Given the description of an element on the screen output the (x, y) to click on. 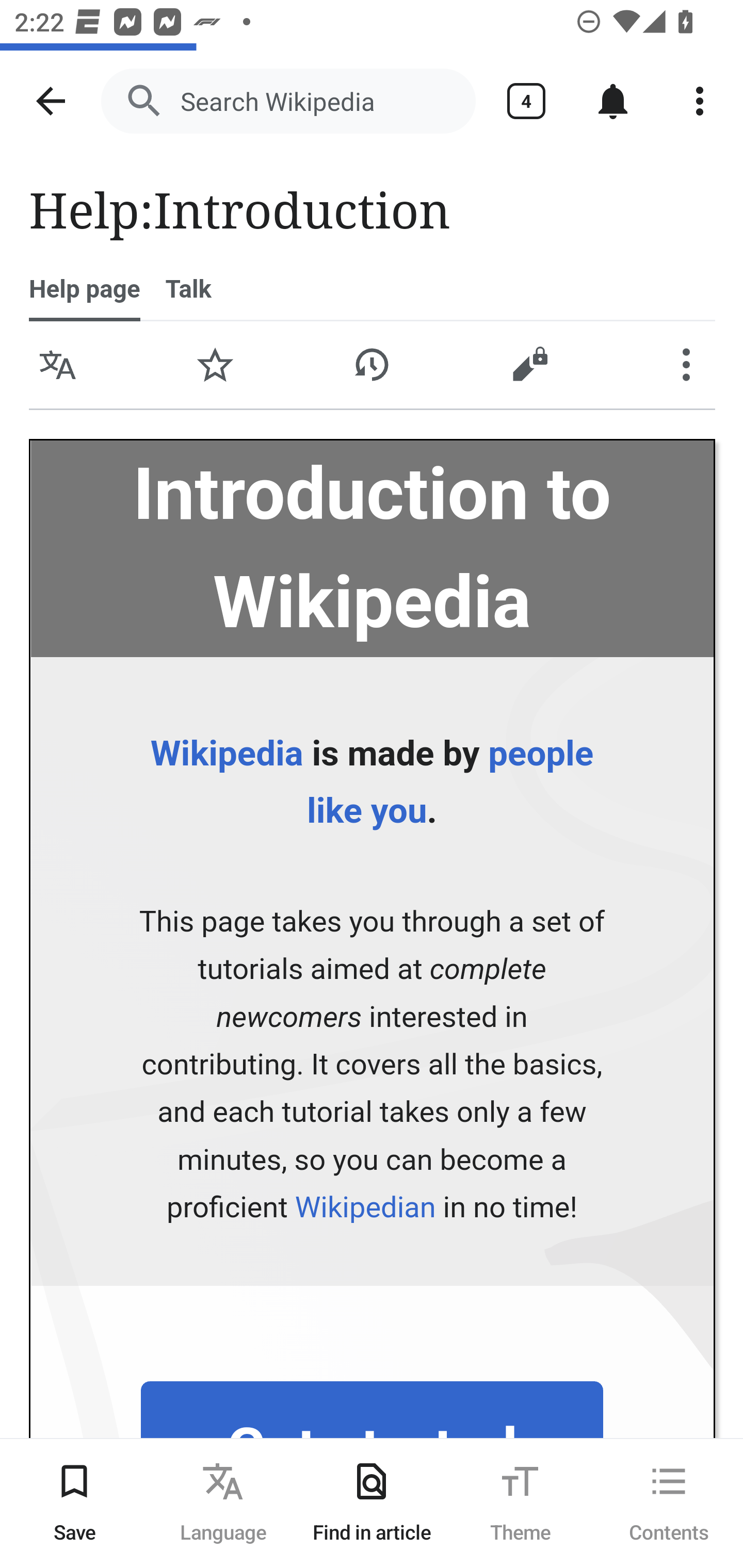
Show tabs 4 (525, 100)
Navigate up (50, 101)
Search (610, 91)
Alert (1) 1 (694, 91)
Search Wikipedia (288, 100)
Help page (84, 289)
Talk (188, 289)
Language (57, 365)
Watch (214, 365)
View history (372, 365)
View source (528, 365)
Wikipedia (226, 754)
people like you people like  you (448, 782)
Wikipedian (365, 1208)
Save (74, 1502)
Language (222, 1502)
Find in article (371, 1502)
Theme (519, 1502)
Contents (668, 1502)
